Given the description of an element on the screen output the (x, y) to click on. 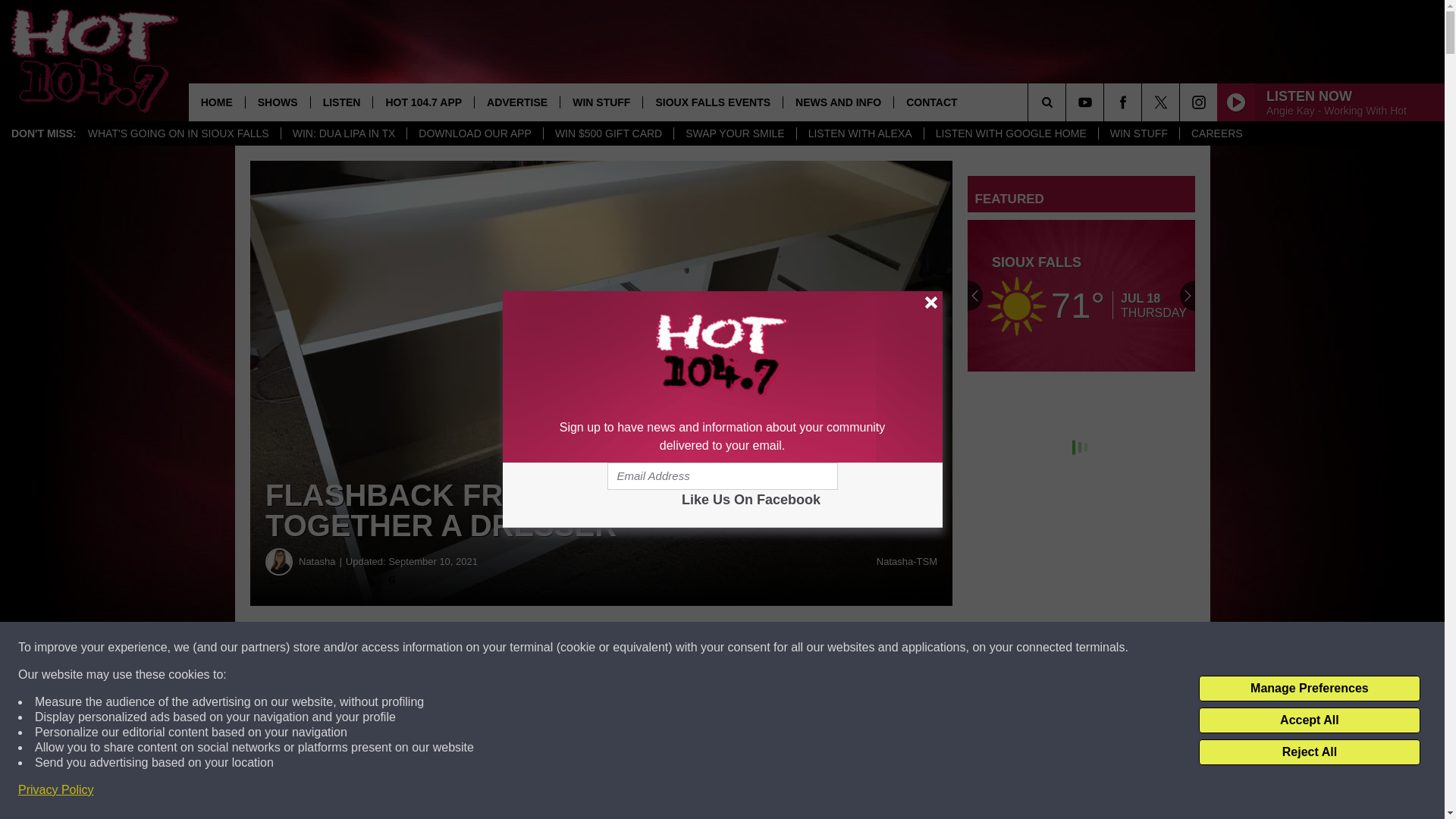
ADVERTISE (516, 102)
Privacy Policy (55, 789)
Manage Preferences (1309, 688)
Share on Twitter (741, 647)
HOME (216, 102)
LISTEN WITH ALEXA (859, 133)
LISTEN (341, 102)
WHAT'S GOING ON IN SIOUX FALLS (179, 133)
HOT 104.7 APP (423, 102)
Email Address (722, 475)
WIN STUFF (600, 102)
CAREERS (1216, 133)
Share on Facebook (460, 647)
Reject All (1309, 751)
WIN STUFF (1138, 133)
